Given the description of an element on the screen output the (x, y) to click on. 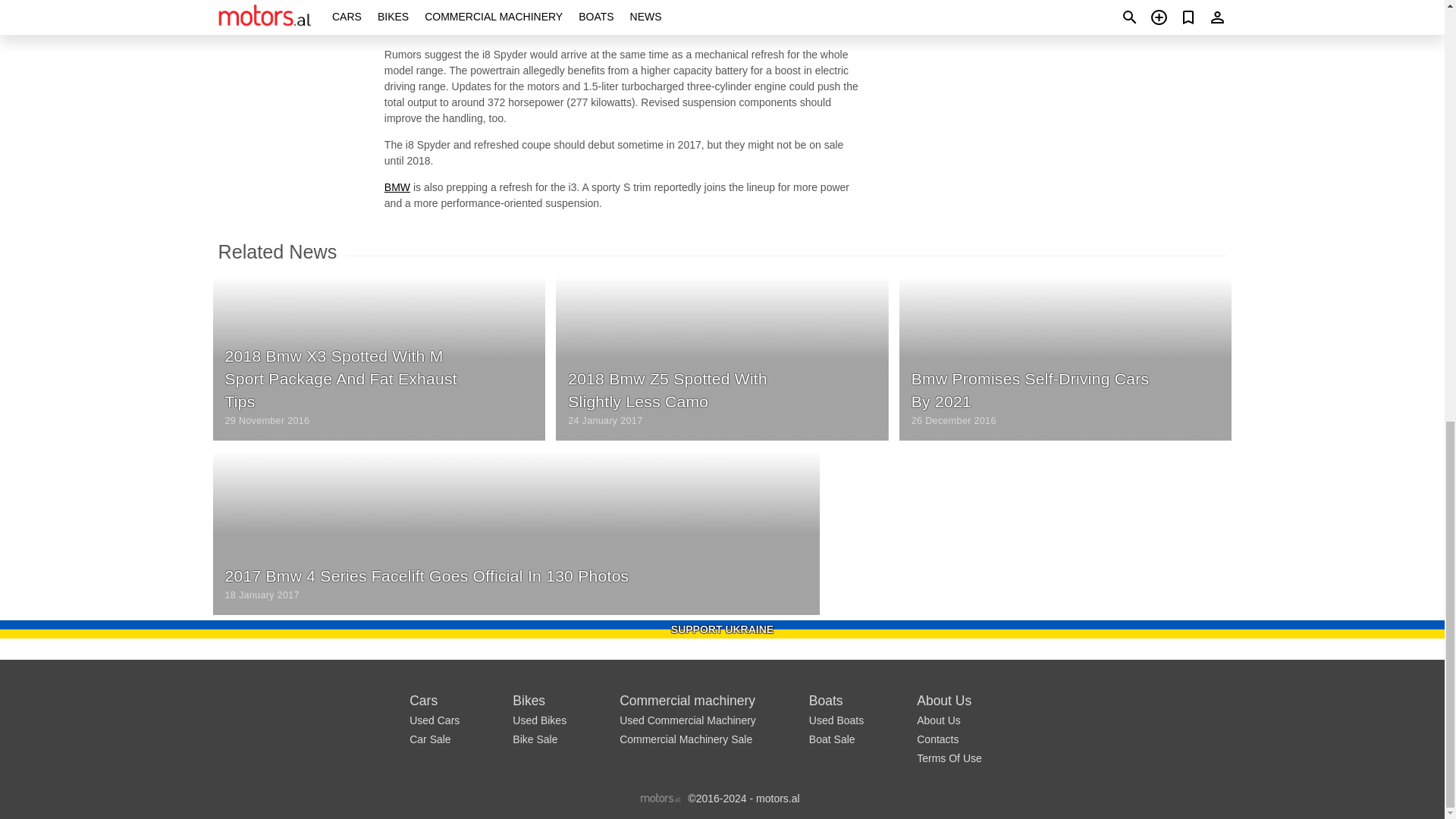
BMW (397, 186)
Terms Of Use (949, 758)
Car Sale (429, 739)
Used car for sale in Albania (397, 186)
Used Bikes (539, 720)
About Us (938, 720)
Commercial Machinery Sale (686, 739)
Boat Sale (832, 739)
Bike Sale (534, 739)
